Given the description of an element on the screen output the (x, y) to click on. 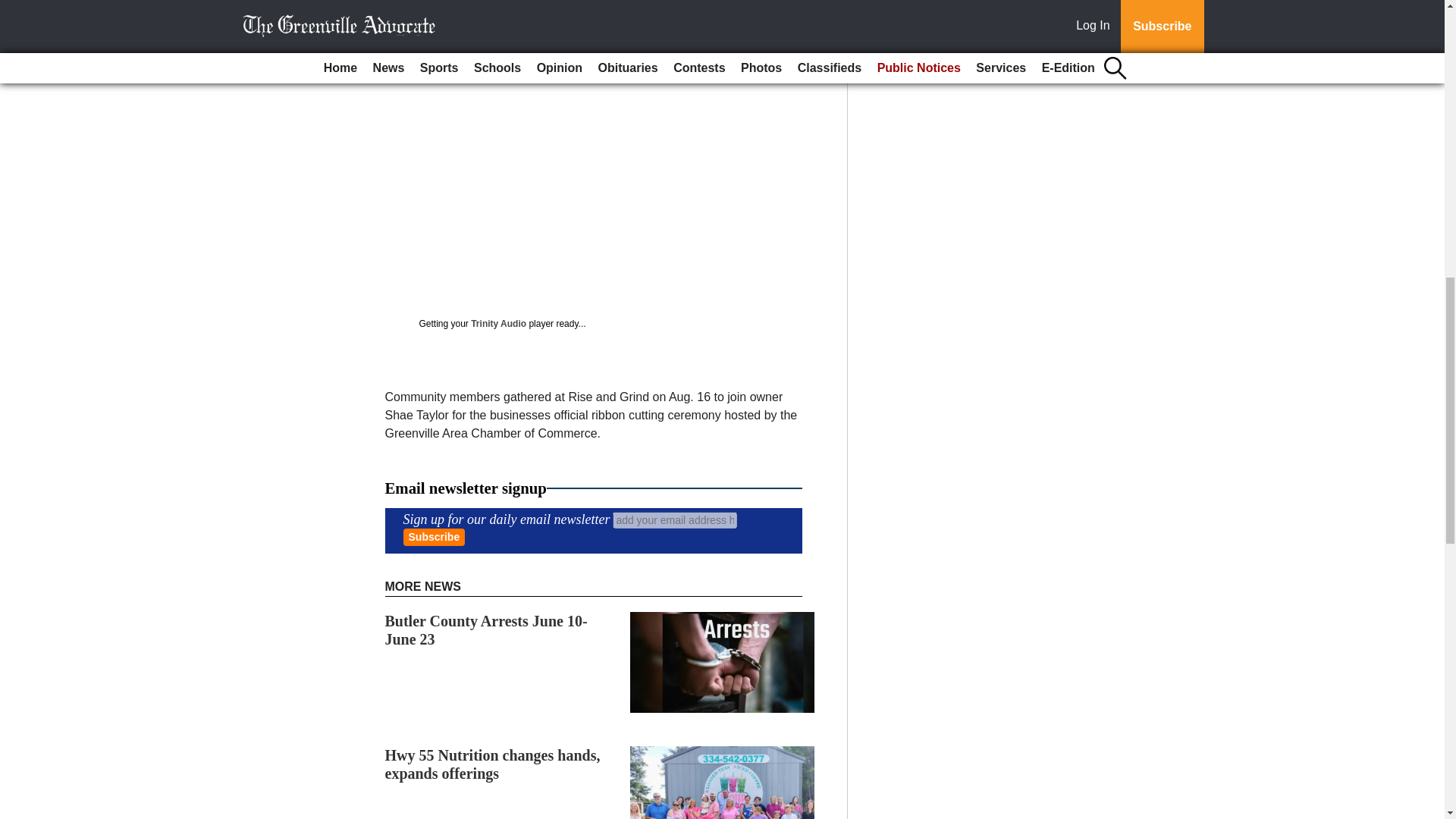
Butler County Arrests June 10-June 23 (486, 629)
Subscribe (434, 537)
Hwy 55 Nutrition changes hands, expands offerings (492, 764)
Hwy 55 Nutrition changes hands, expands offerings (492, 764)
Butler County Arrests June 10-June 23 (486, 629)
Subscribe (434, 537)
Trinity Audio (497, 323)
